Given the description of an element on the screen output the (x, y) to click on. 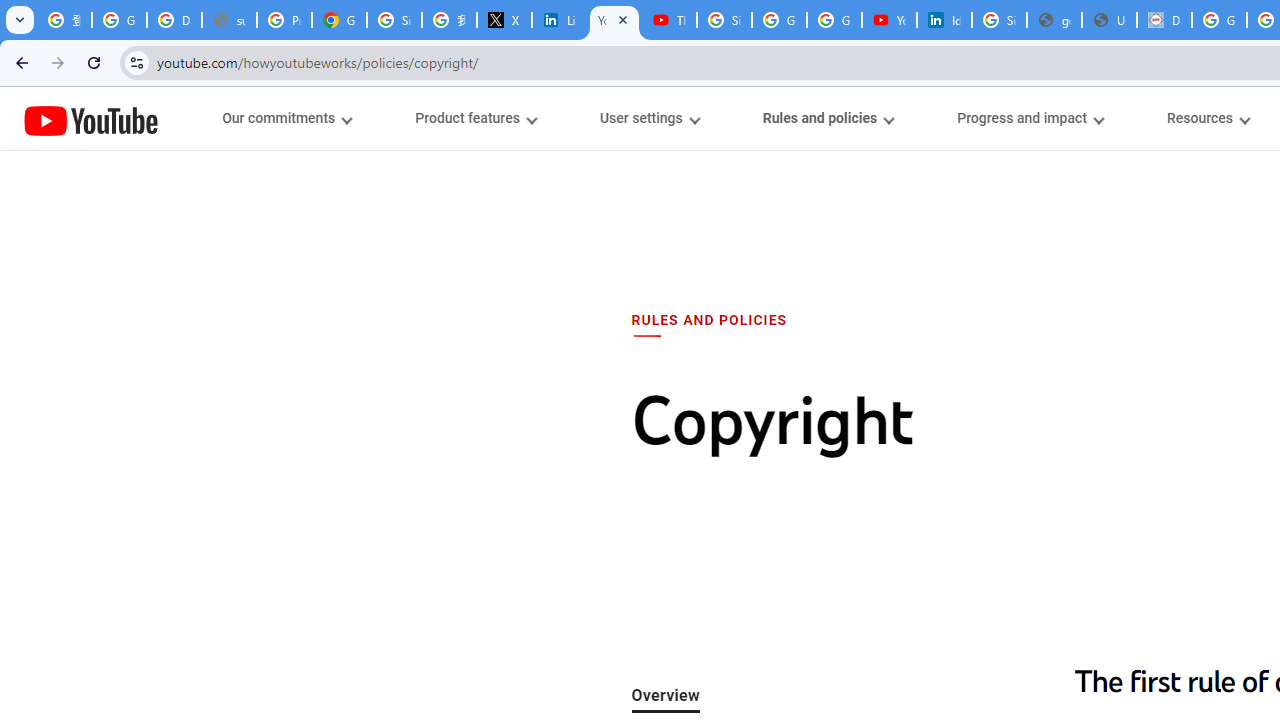
google_privacy_policy_en.pdf (1053, 20)
Product features menupopup (475, 118)
Progress and impact menupopup (1030, 118)
Back (19, 62)
Overview (665, 696)
Search tabs (20, 20)
Privacy Help Center - Policies Help (284, 20)
YouTube Copyright Rules & Policies - How YouTube Works (614, 20)
support.google.com - Network error (229, 20)
User Details (1108, 20)
View site information (136, 62)
